Given the description of an element on the screen output the (x, y) to click on. 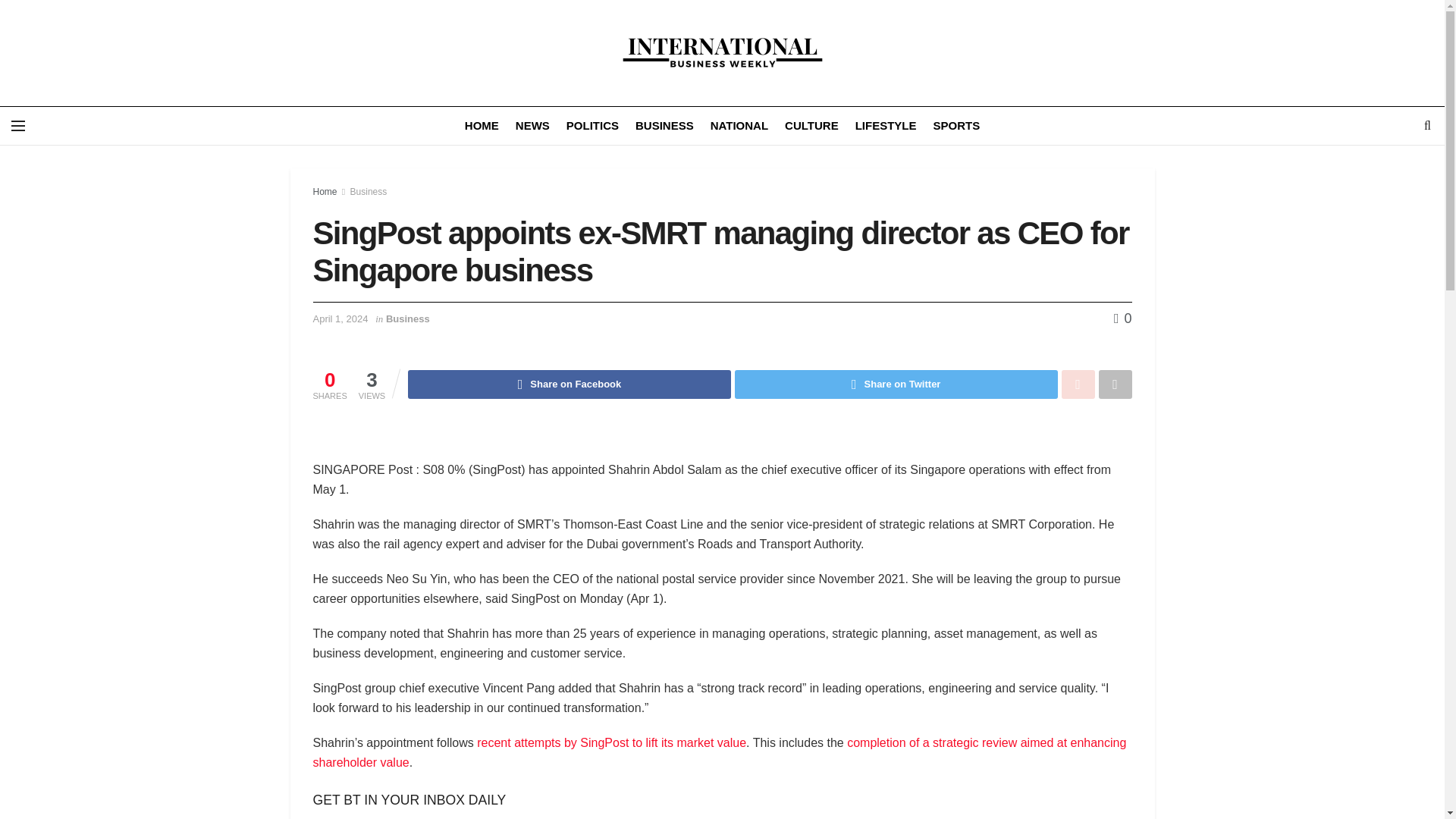
CULTURE (811, 125)
POLITICS (592, 125)
HOME (481, 125)
Home (324, 191)
NATIONAL (739, 125)
April 1, 2024 (340, 318)
Business (407, 318)
Share on Twitter (896, 384)
Business (368, 191)
BUSINESS (664, 125)
